Given the description of an element on the screen output the (x, y) to click on. 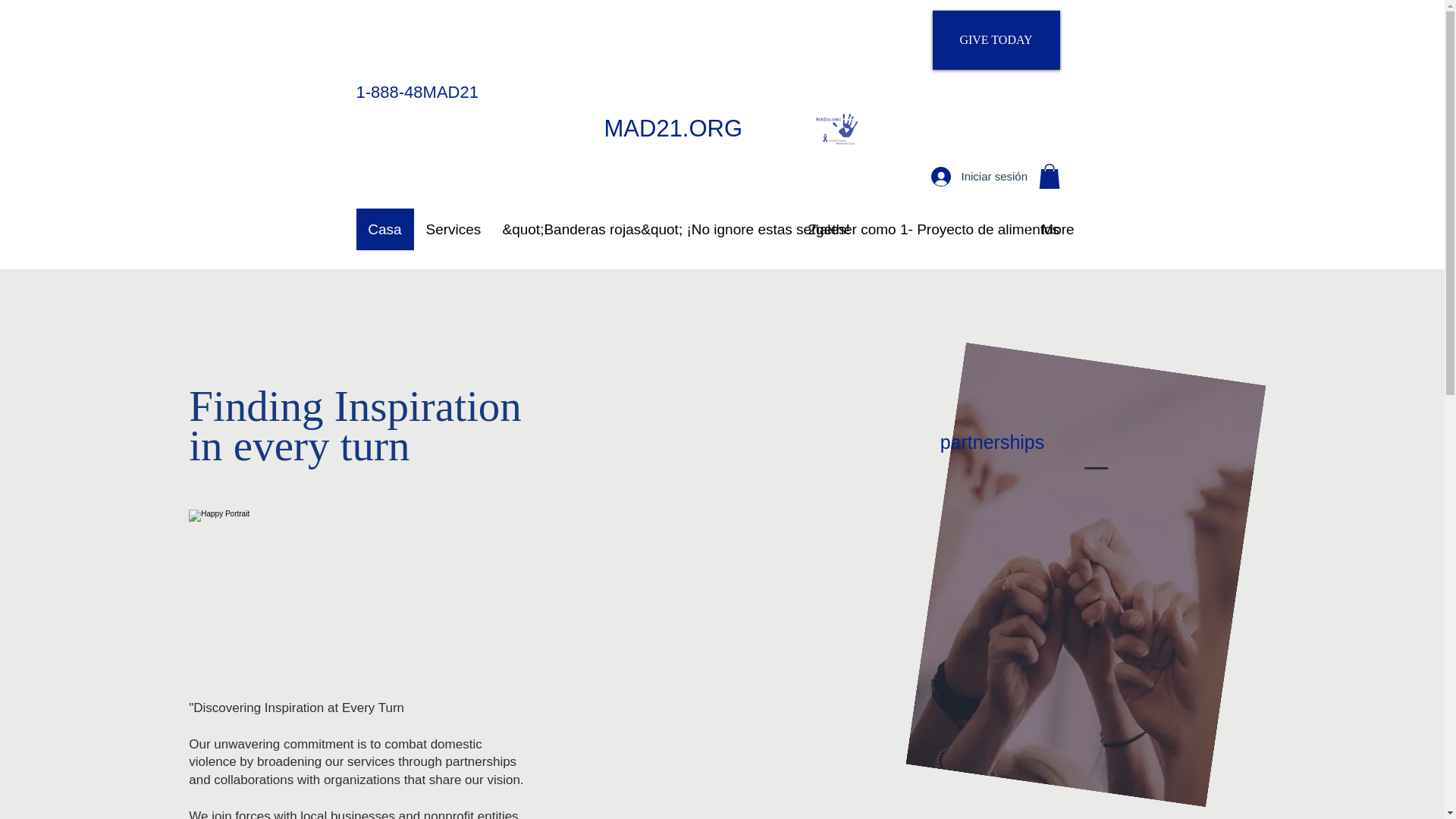
GIVE TODAY (996, 39)
Services (451, 229)
2gether como 1- Proyecto de alimentos (911, 229)
Casa (384, 229)
